Given the description of an element on the screen output the (x, y) to click on. 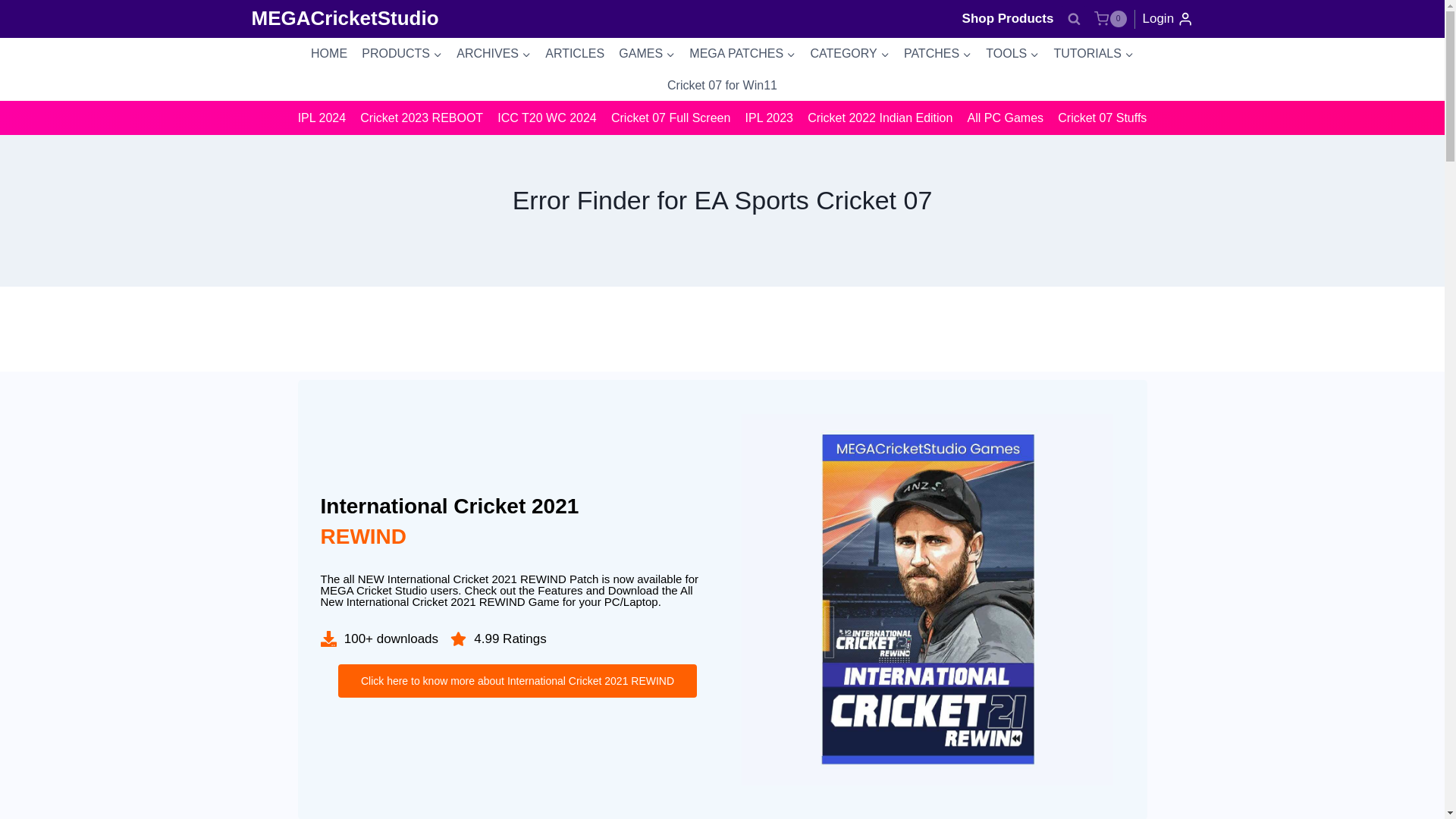
Login (1166, 18)
ARCHIVES (493, 53)
PRODUCTS (402, 53)
0 (1109, 18)
HOME (327, 53)
Shop Products (1008, 18)
MEGACricketStudio (345, 18)
